Given the description of an element on the screen output the (x, y) to click on. 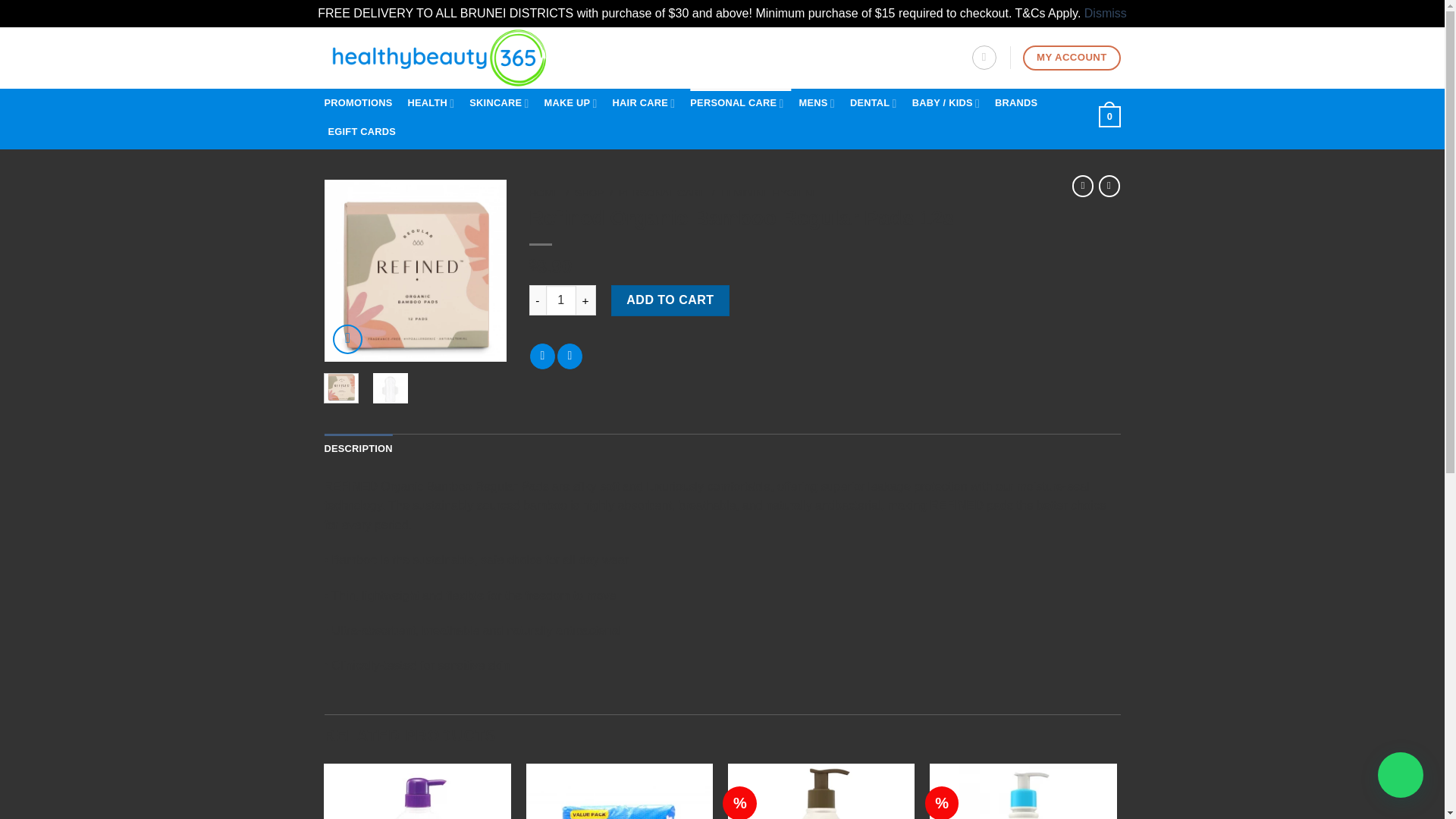
Share on Facebook (541, 356)
1 (561, 300)
Email to a Friend (569, 356)
MY ACCOUNT (1071, 57)
PC000461 (415, 270)
PROMOTIONS (362, 103)
HEALTH (435, 102)
Zoom (347, 338)
SKINCARE (501, 102)
Dismiss (1105, 12)
